Given the description of an element on the screen output the (x, y) to click on. 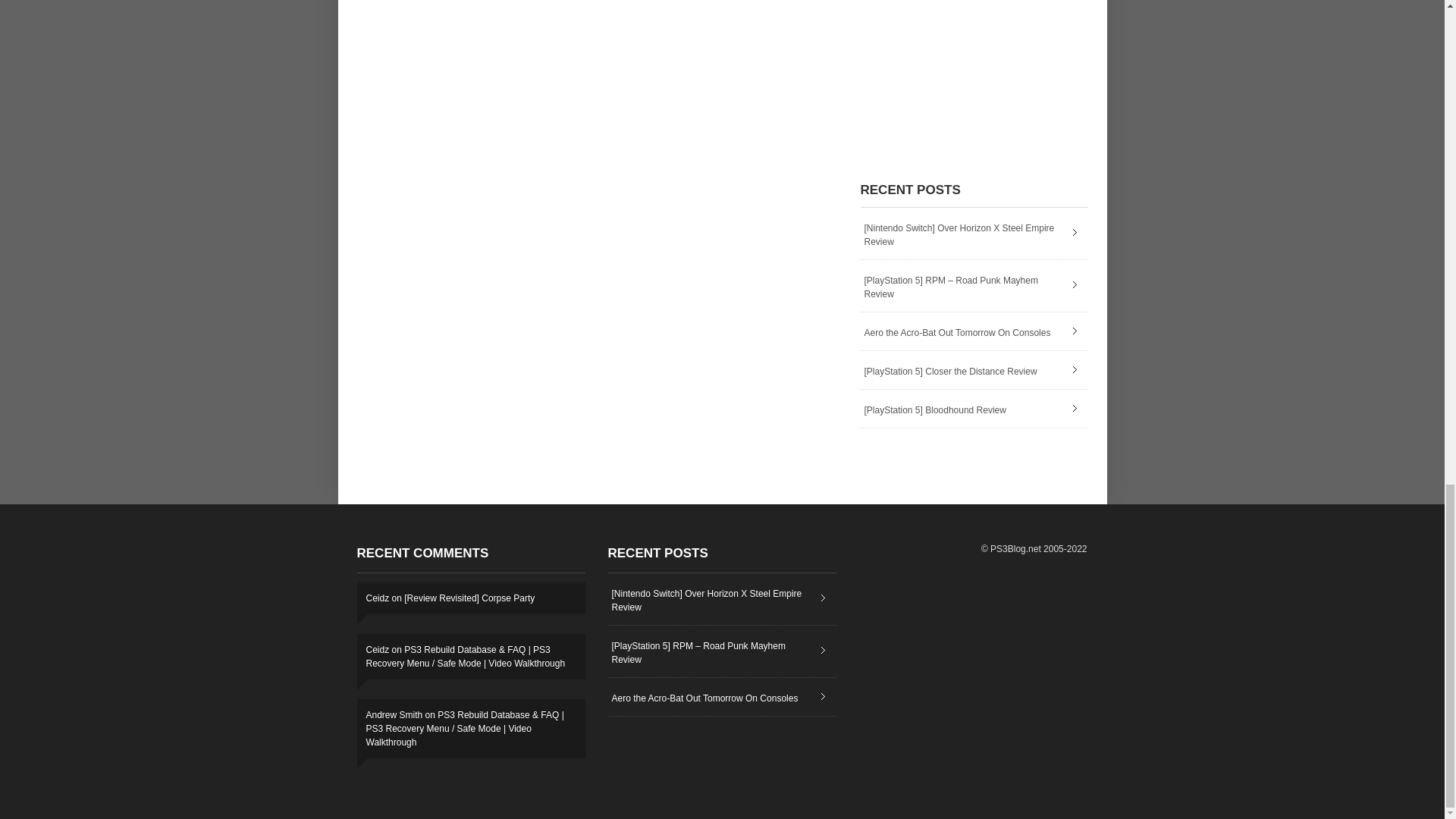
Advertisement (973, 69)
